Given the description of an element on the screen output the (x, y) to click on. 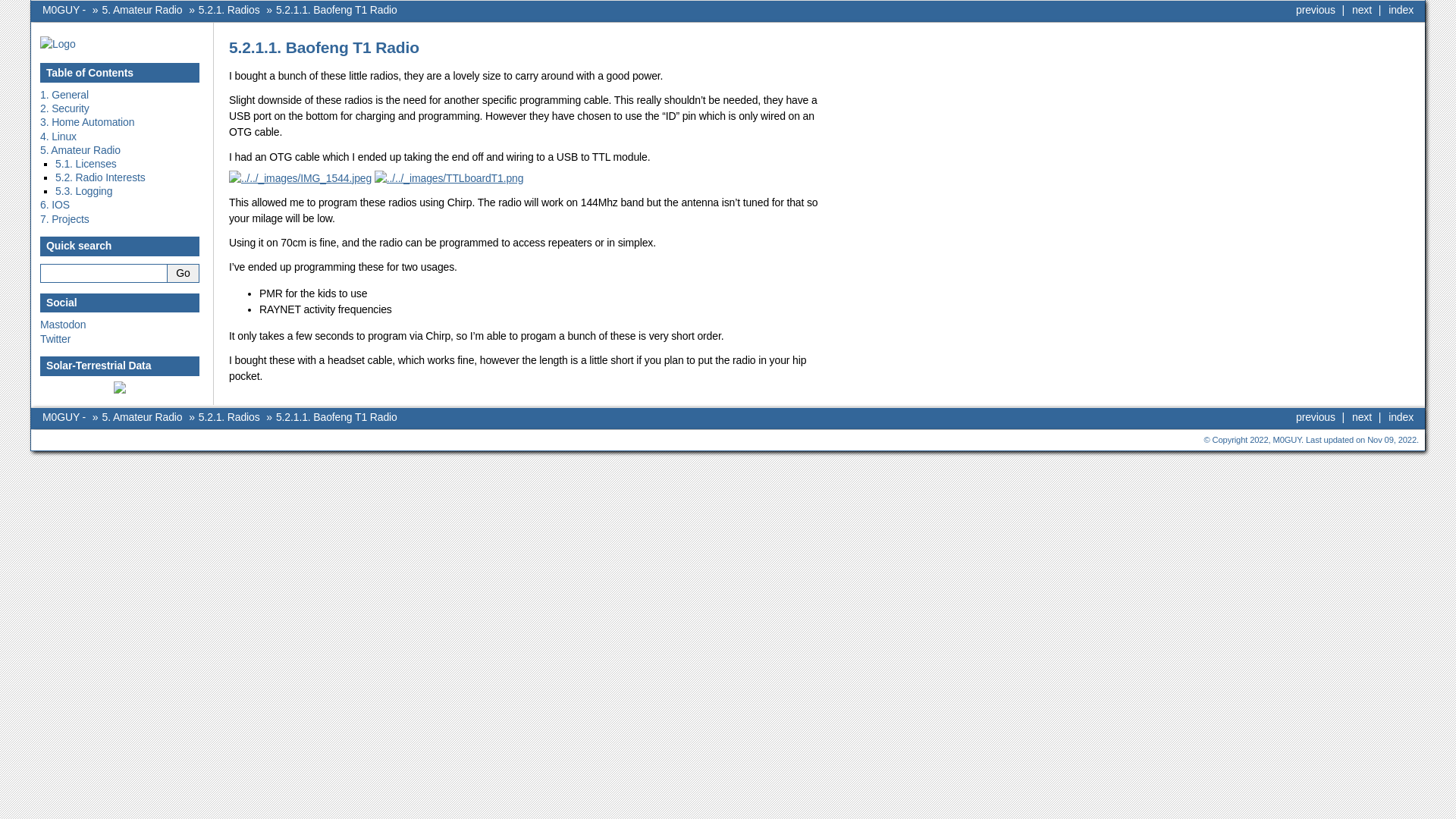
Twitter Element type: text (55, 338)
previous Element type: text (1315, 9)
index Element type: text (1400, 417)
5.2.1. Radios Element type: text (228, 417)
M0GUY - Element type: text (65, 9)
5.2.1.1. Baofeng T1 Radio Element type: text (336, 417)
5.2.1. Radios Element type: text (228, 9)
previous Element type: text (1315, 417)
3. Home Automation Element type: text (87, 122)
M0GUY - Element type: text (65, 417)
5. Amateur Radio Element type: text (142, 9)
4. Linux Element type: text (58, 136)
index Element type: text (1400, 9)
5.2. Radio Interests Element type: text (100, 177)
Social Element type: text (61, 302)
5.2.1.1. Baofeng T1 Radio Element type: text (336, 9)
5.3. Logging Element type: text (83, 191)
Table of Contents Element type: text (89, 72)
5.1. Licenses Element type: text (85, 163)
5. Amateur Radio Element type: text (142, 417)
6. IOS Element type: text (54, 204)
Mastodon Element type: text (62, 324)
5. Amateur Radio Element type: text (80, 150)
Solar-Terrestrial Data Element type: text (98, 365)
next Element type: text (1361, 417)
7. Projects Element type: text (64, 219)
1. General Element type: text (64, 94)
2. Security Element type: text (64, 108)
Click to add Solar-Terrestrial Data to your website! Element type: hover (119, 389)
Go Element type: text (183, 272)
next Element type: text (1361, 9)
